Given the description of an element on the screen output the (x, y) to click on. 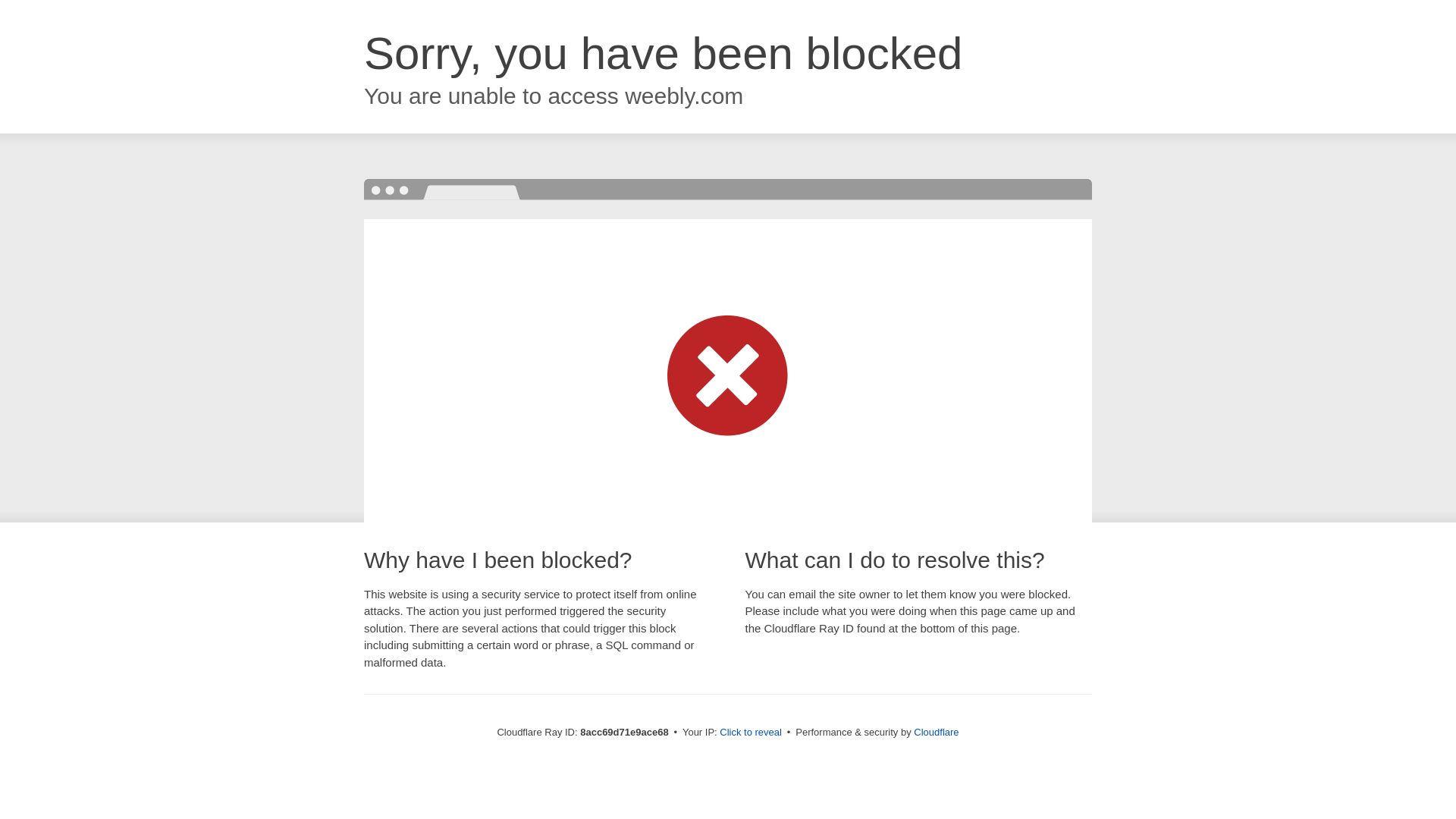
Cloudflare (936, 731)
Click to reveal (750, 732)
